Given the description of an element on the screen output the (x, y) to click on. 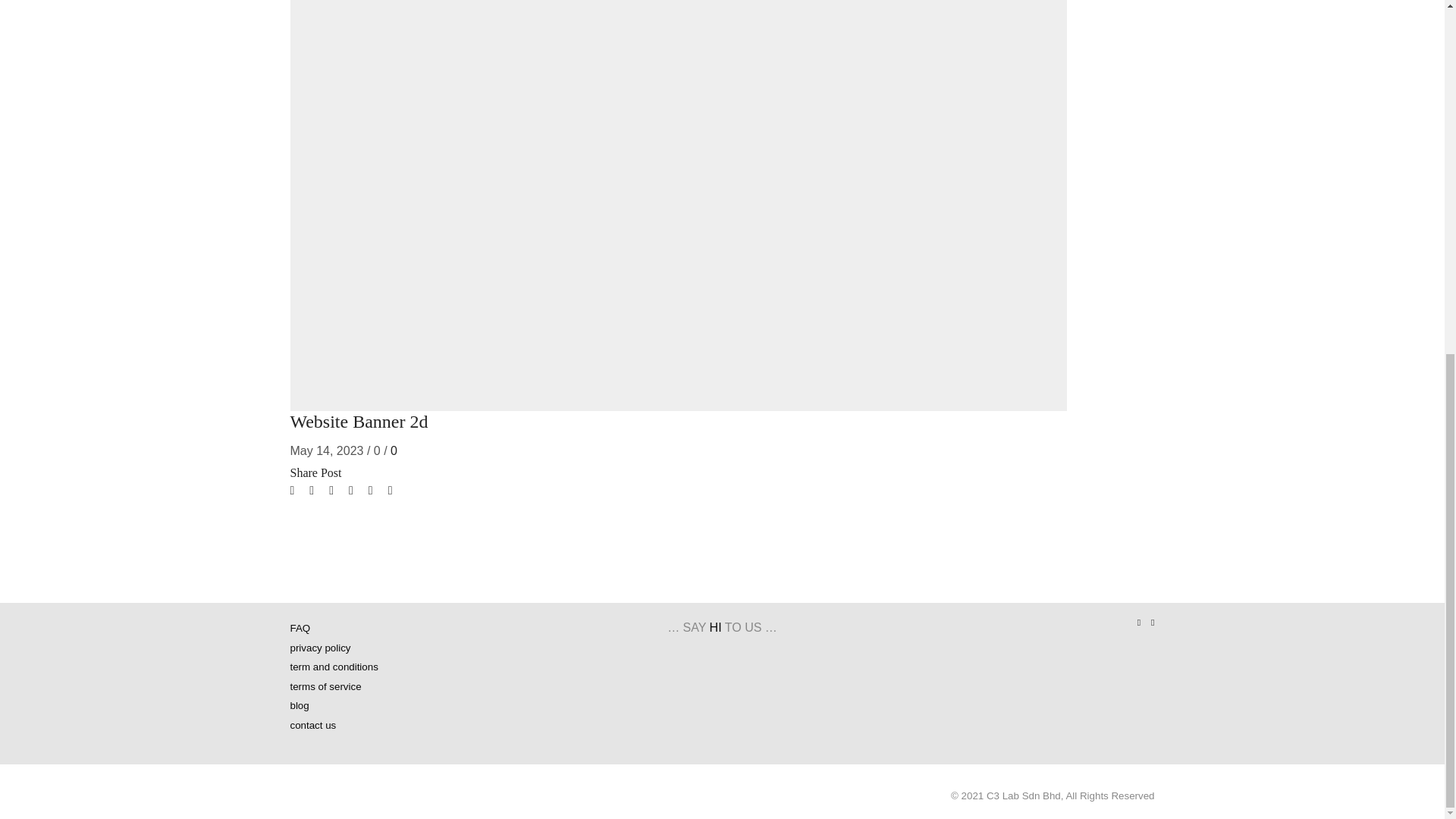
whatsapp (370, 489)
Facebook (311, 489)
Pinterest (330, 489)
linkedin (350, 489)
